Given the description of an element on the screen output the (x, y) to click on. 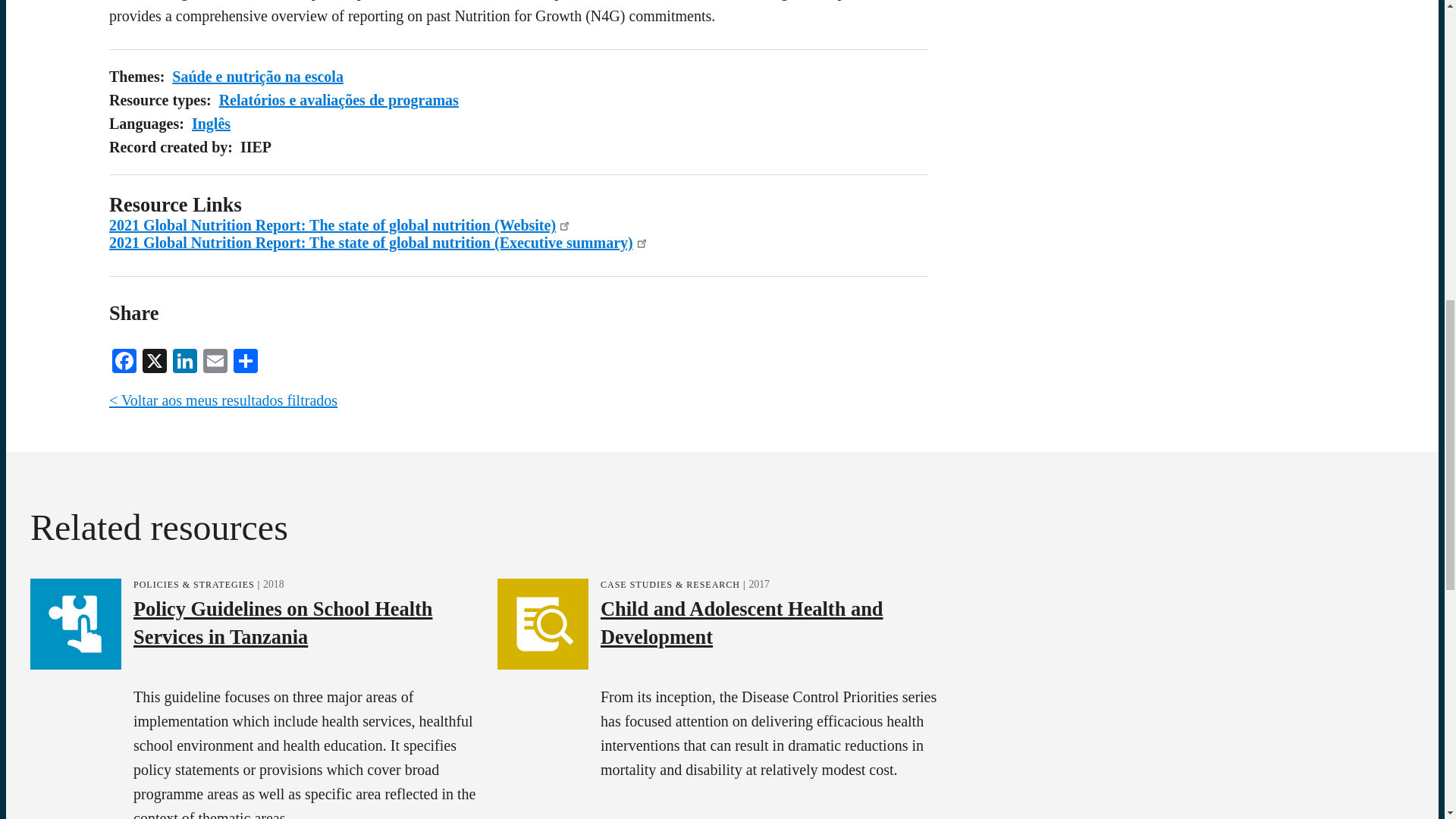
LinkedIn (185, 359)
X (154, 359)
Facebook (124, 359)
Email (215, 359)
Share (245, 359)
Policy Guidelines on School Health Services in Tanzania (282, 621)
Child and Adolescent Health and Development (740, 621)
